Given the description of an element on the screen output the (x, y) to click on. 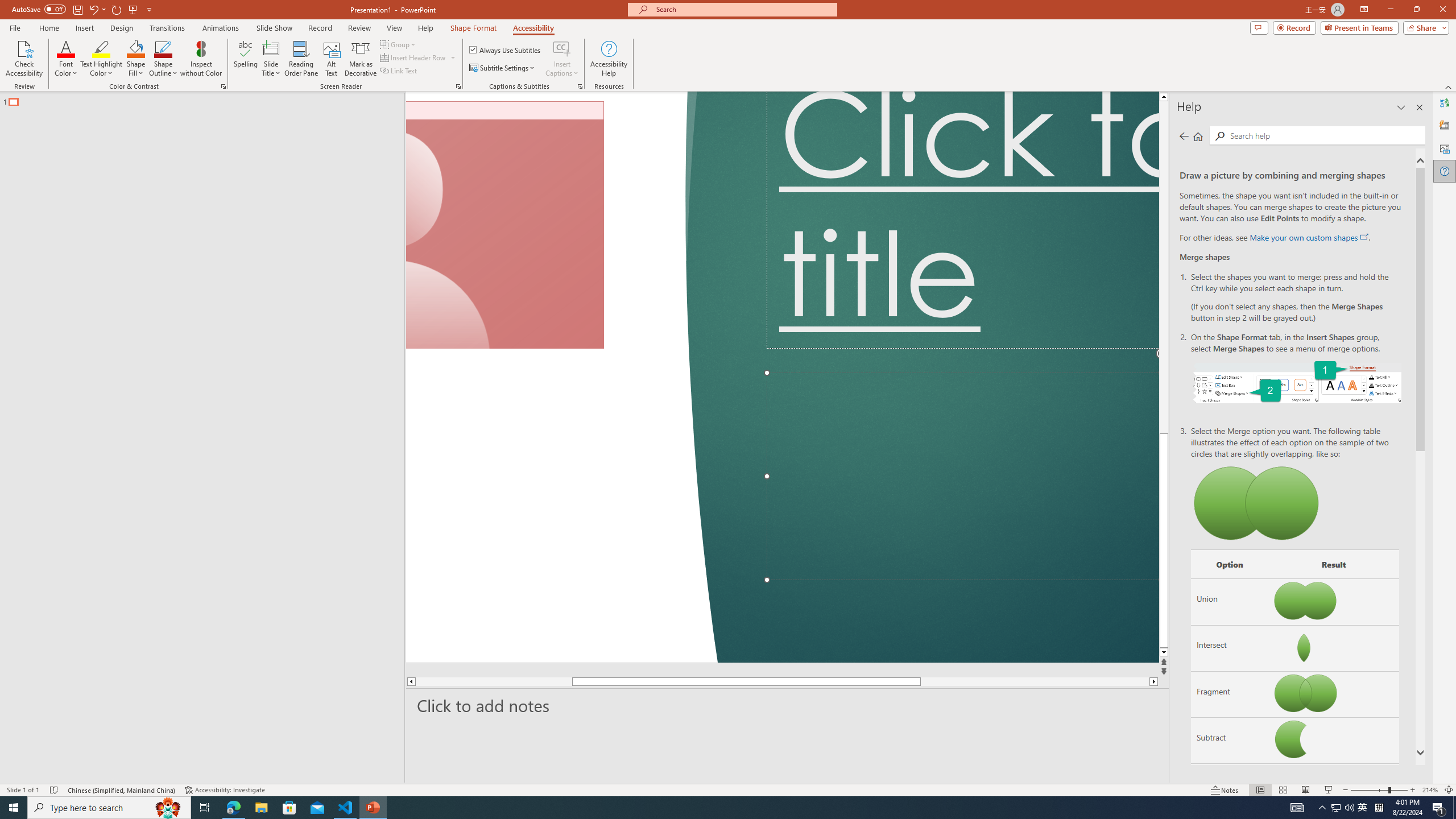
Inspect without Color (201, 58)
Subtitle Settings (502, 67)
